Given the description of an element on the screen output the (x, y) to click on. 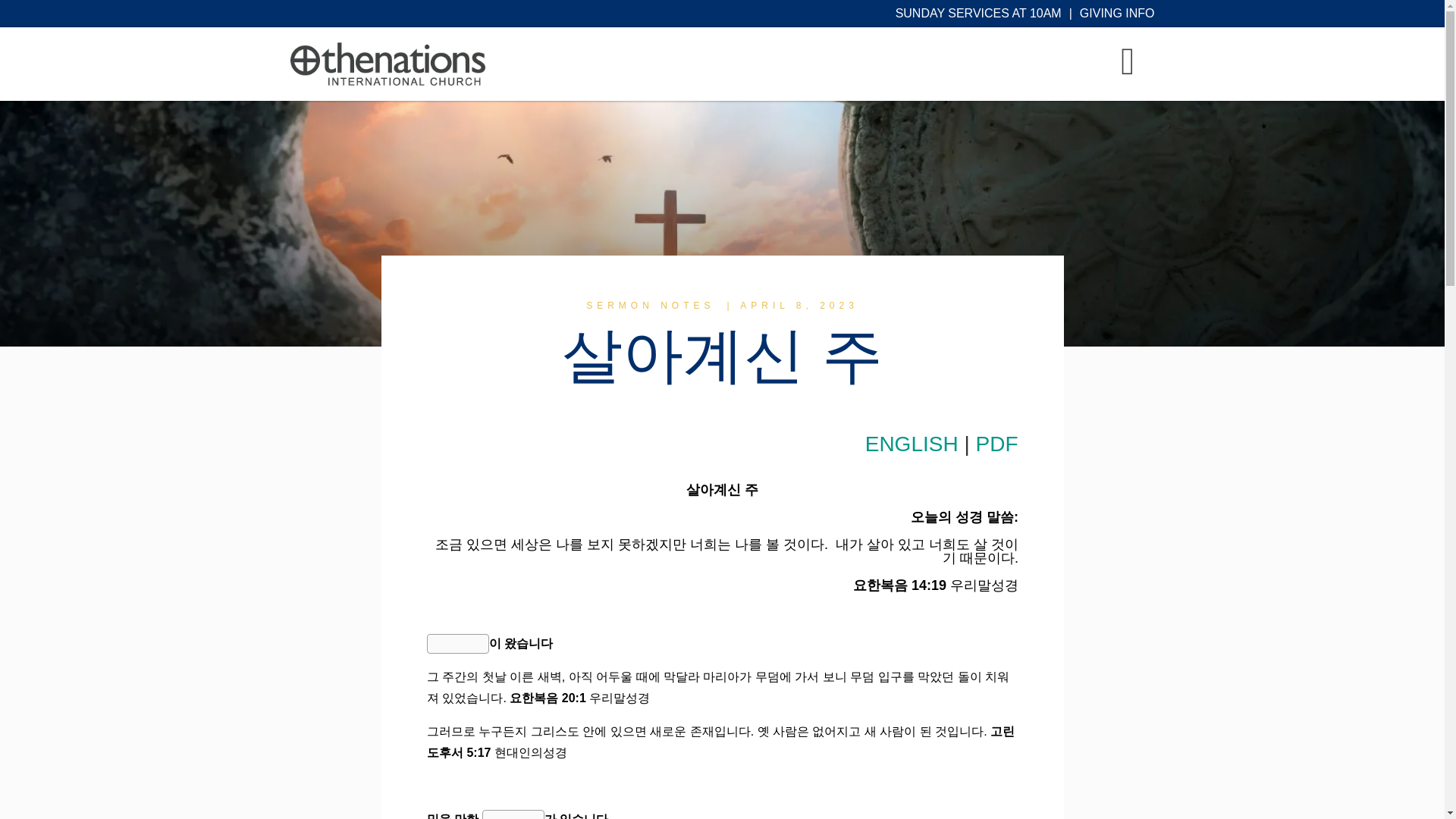
GIVING INFO (1117, 12)
ENGLISH (911, 443)
PDF (996, 443)
SERMON NOTES (650, 305)
